Given the description of an element on the screen output the (x, y) to click on. 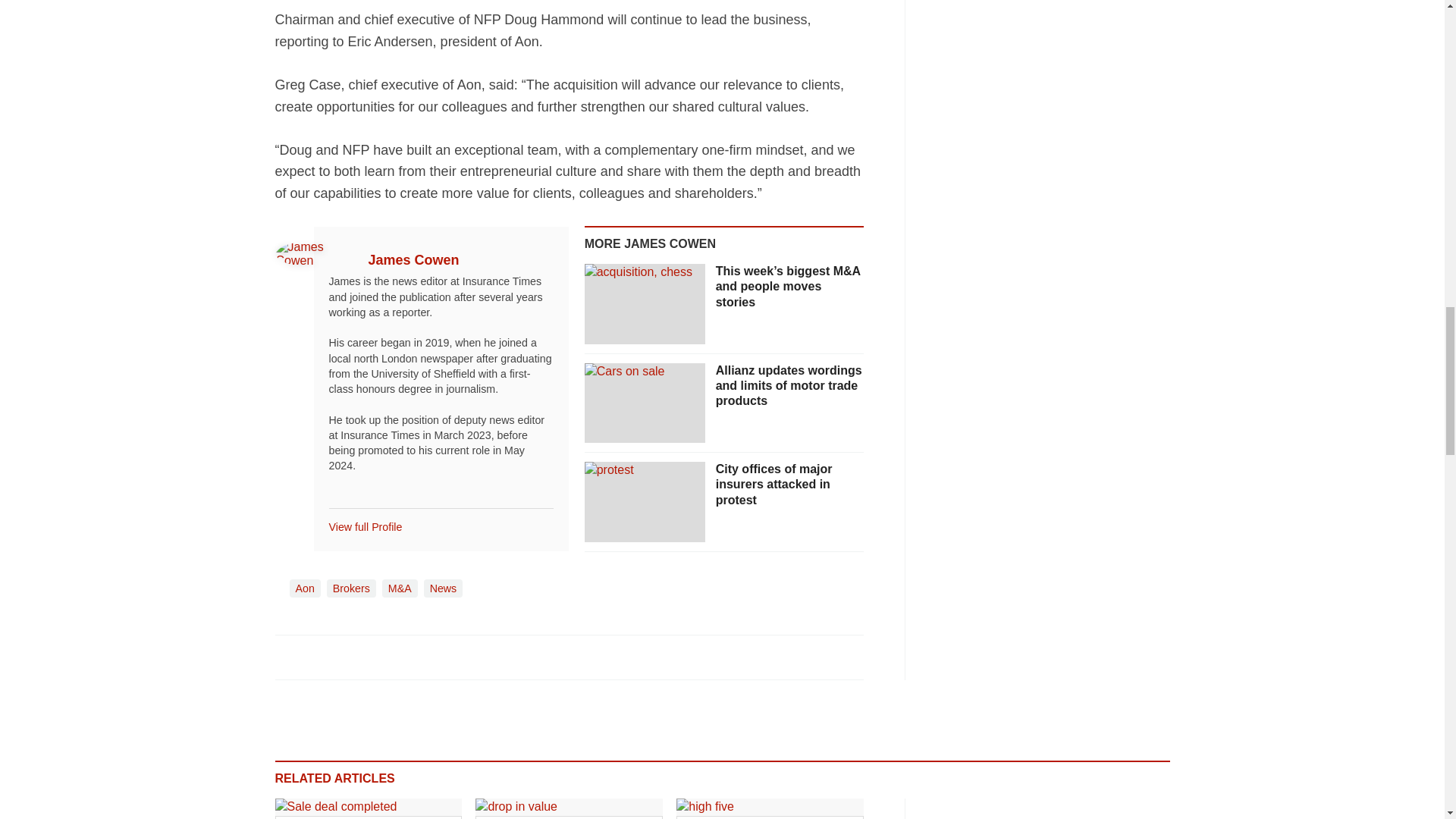
No comments (840, 665)
Share this on Twitter (320, 656)
Share this on Linked in (352, 656)
Email this article (386, 656)
Share this on Facebook (288, 656)
